Given the description of an element on the screen output the (x, y) to click on. 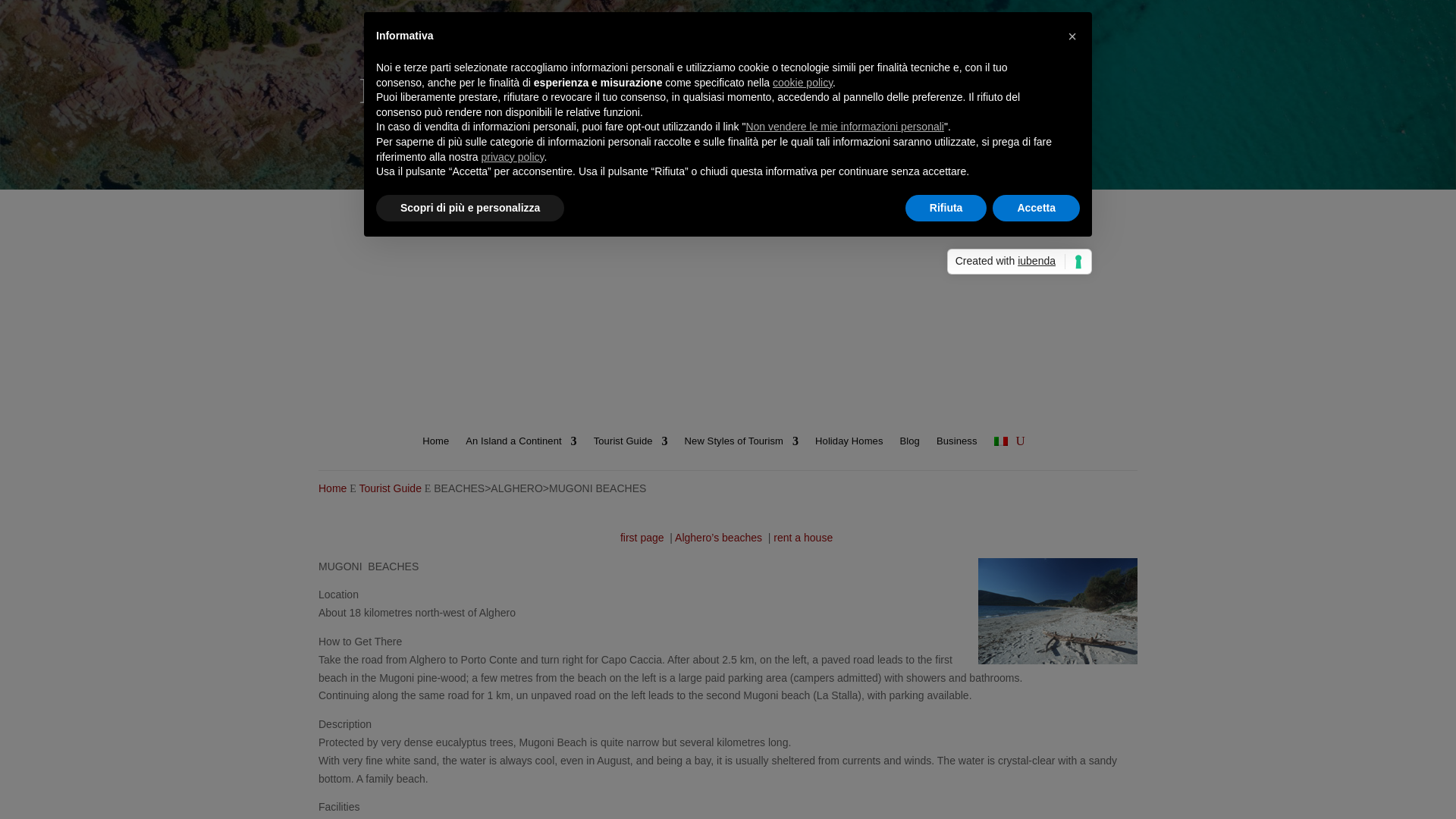
rent a house (802, 537)
Business (956, 443)
Home (332, 488)
Blog (909, 443)
An Island a Continent (520, 443)
Holiday Homes (848, 443)
New Styles of Tourism (740, 443)
first page (641, 537)
Tourist Guide (631, 443)
Home (435, 443)
Tourist Guide (389, 488)
